Given the description of an element on the screen output the (x, y) to click on. 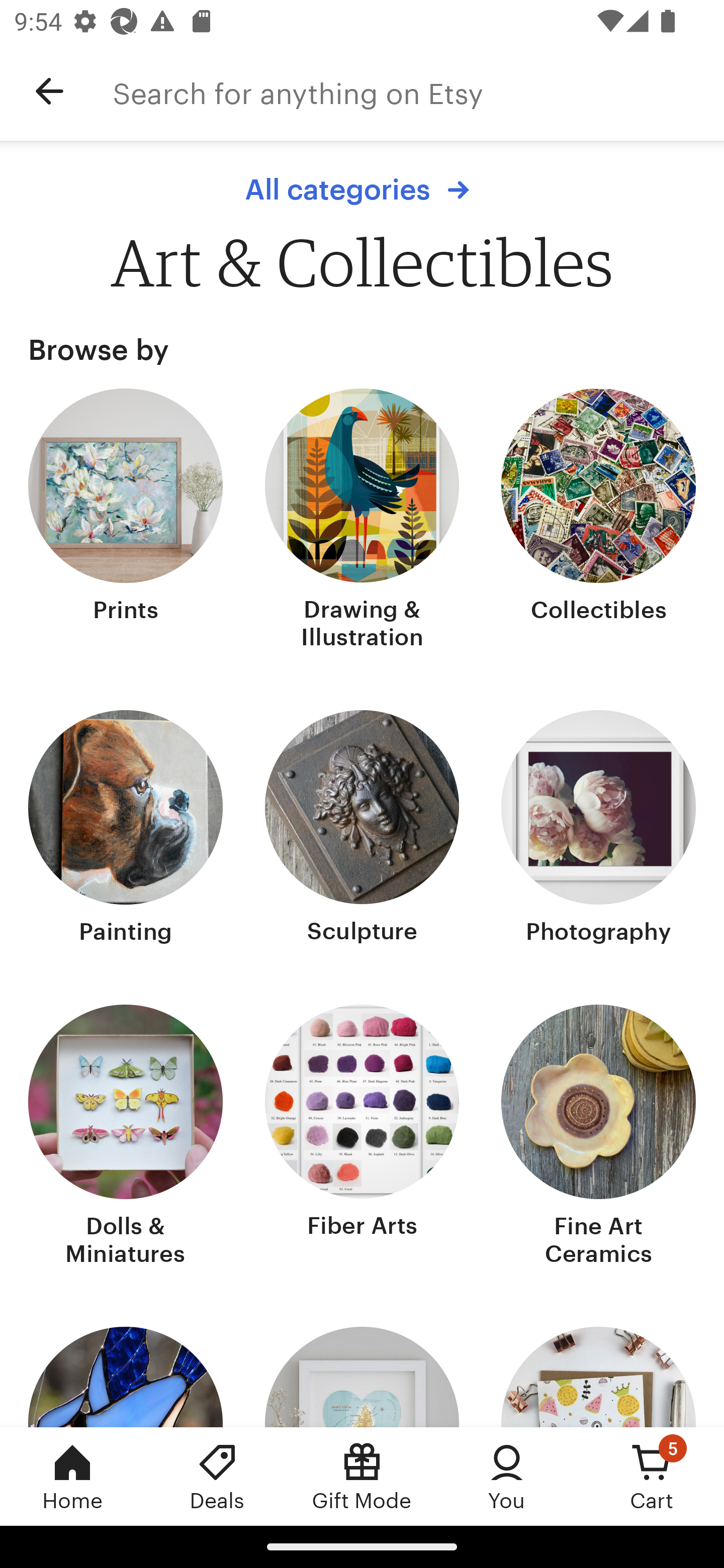
Navigate up (49, 91)
Search for anything on Etsy (418, 91)
All categories (361, 189)
Prints (125, 520)
Drawing & Illustration (361, 520)
Collectibles (598, 520)
Painting (125, 829)
Sculpture (361, 829)
Photography (598, 829)
Dolls & Miniatures (125, 1137)
Fiber Arts (361, 1137)
Fine Art Ceramics (598, 1137)
Deals (216, 1475)
Gift Mode (361, 1475)
You (506, 1475)
Cart, 5 new notifications Cart (651, 1475)
